Given the description of an element on the screen output the (x, y) to click on. 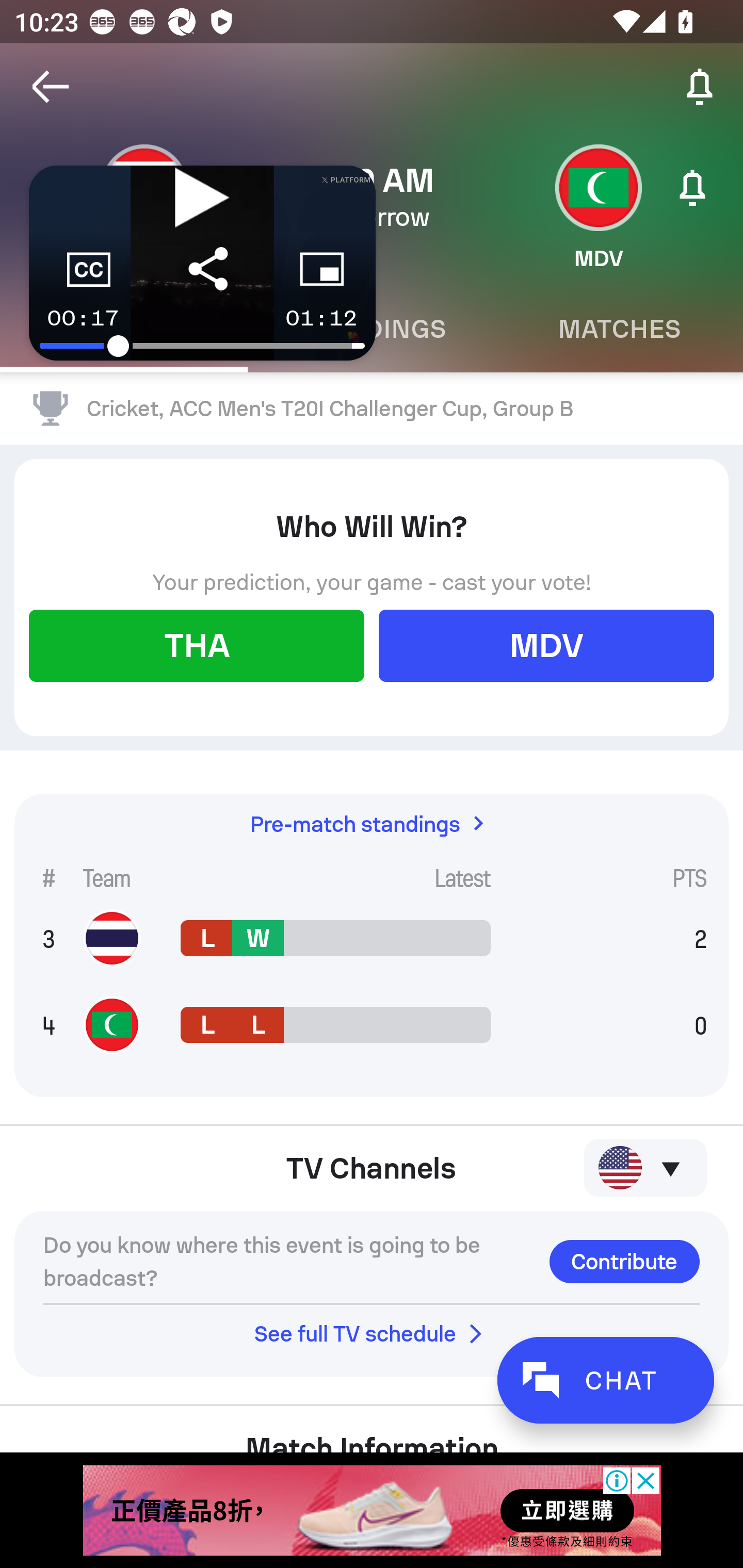
Navigate up (50, 86)
Matches MATCHES (619, 329)
Cricket, ACC Men's T20I Challenger Cup, Group B (371, 409)
THA (196, 645)
MDV (546, 645)
Contribute (624, 1261)
See full TV schedule (371, 1333)
CHAT (605, 1380)
